Given the description of an element on the screen output the (x, y) to click on. 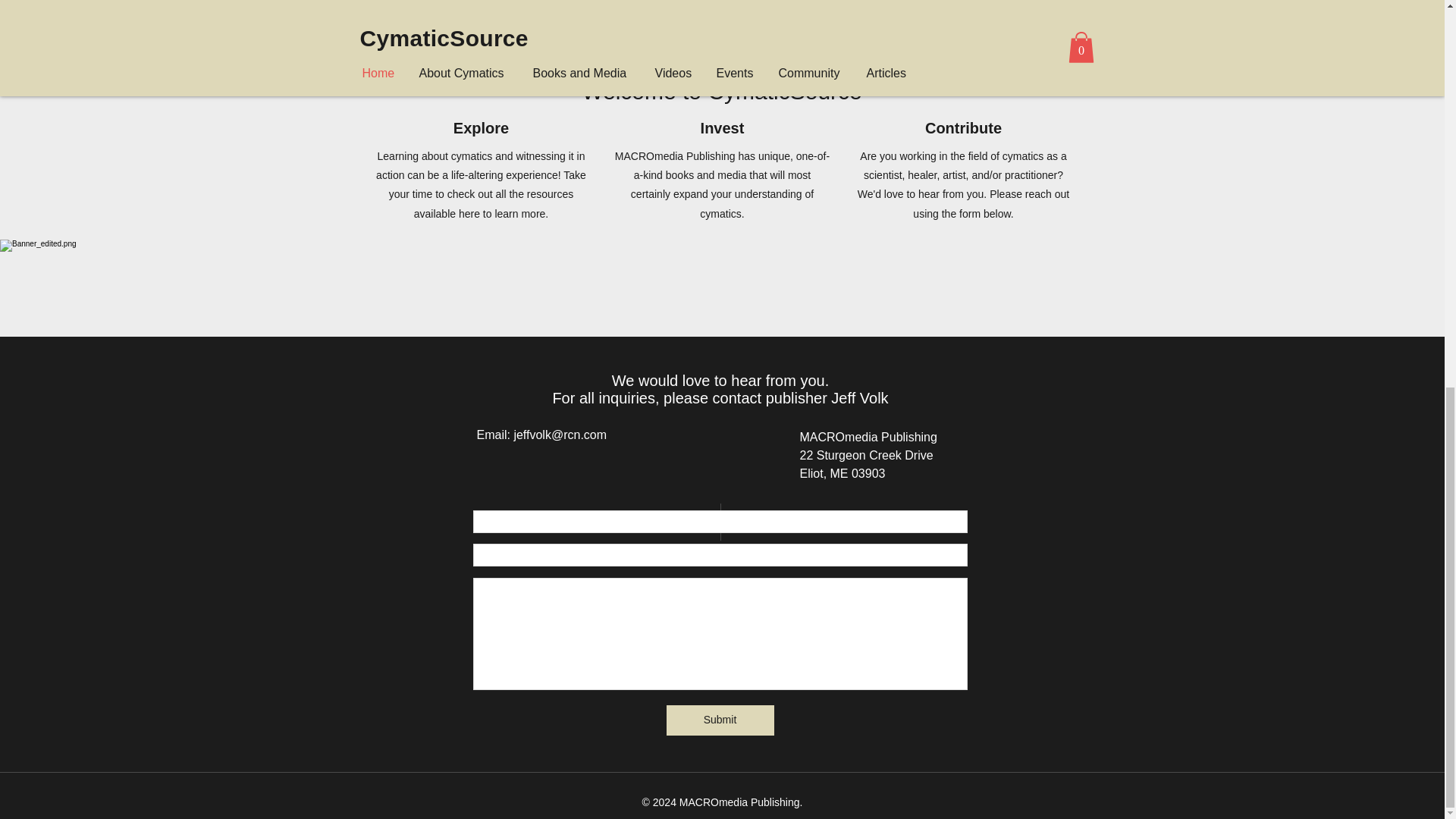
Email: (494, 434)
Click here to view a recording of this program. (826, 24)
Submit (719, 720)
